Given the description of an element on the screen output the (x, y) to click on. 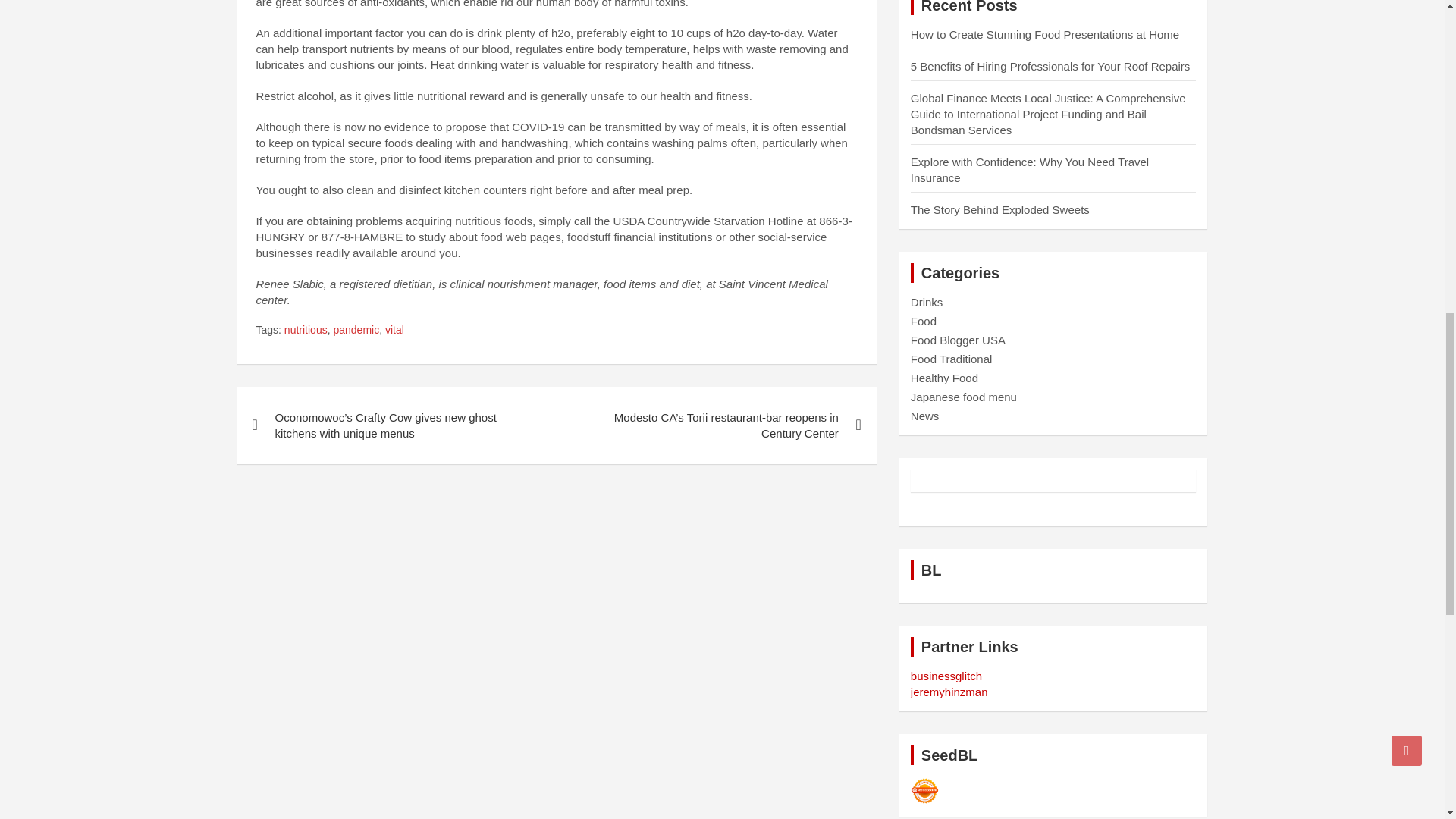
Japanese food menu (963, 396)
Healthy Food (944, 377)
nutritious (305, 330)
Food (923, 320)
Food Blogger USA (958, 339)
Seedbacklink (925, 790)
businessglitch (946, 675)
jeremyhinzman (949, 691)
The Story Behind Exploded Sweets (1000, 209)
